Given the description of an element on the screen output the (x, y) to click on. 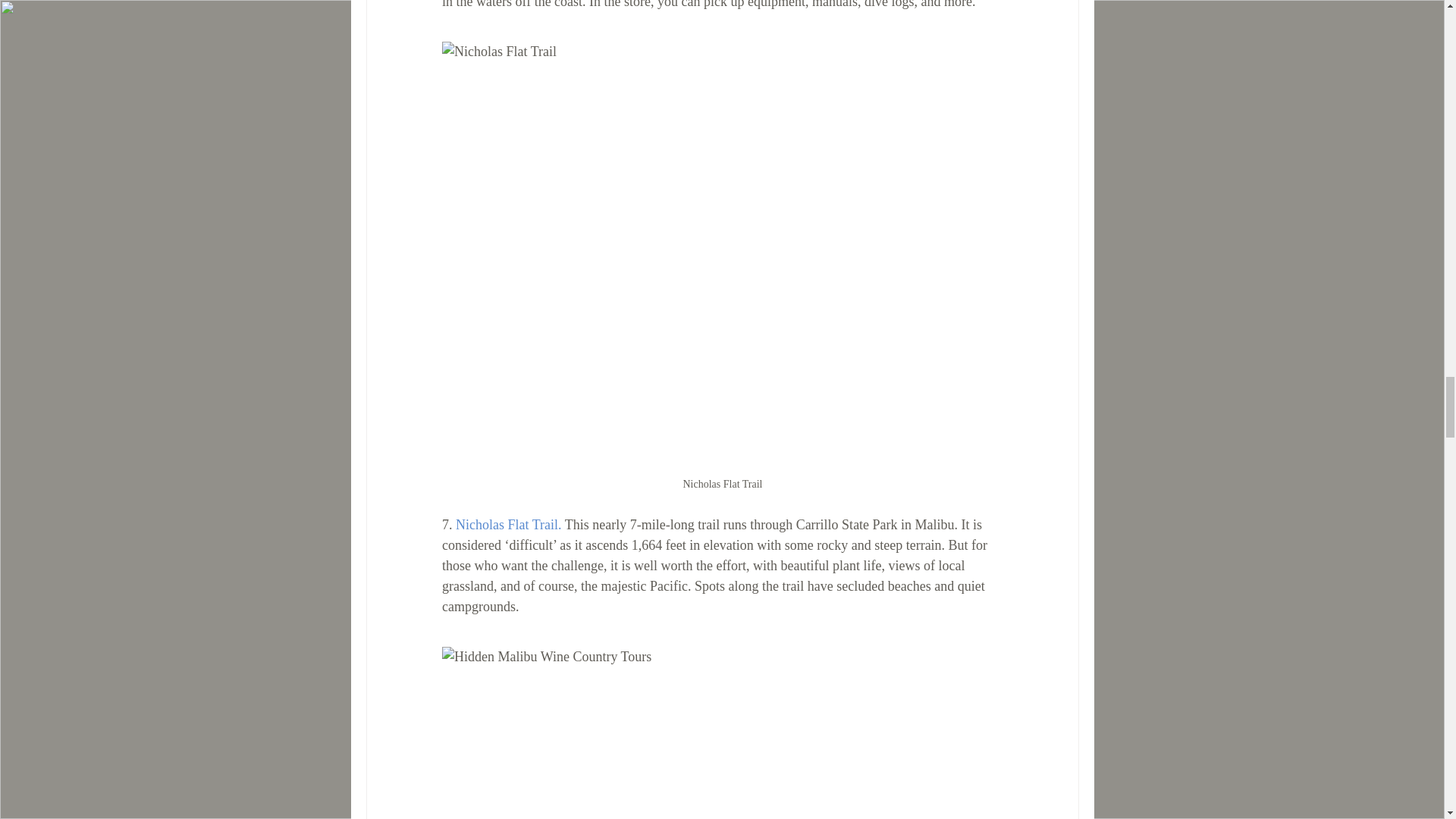
Nicholas Flat Trail. (507, 524)
